Given the description of an element on the screen output the (x, y) to click on. 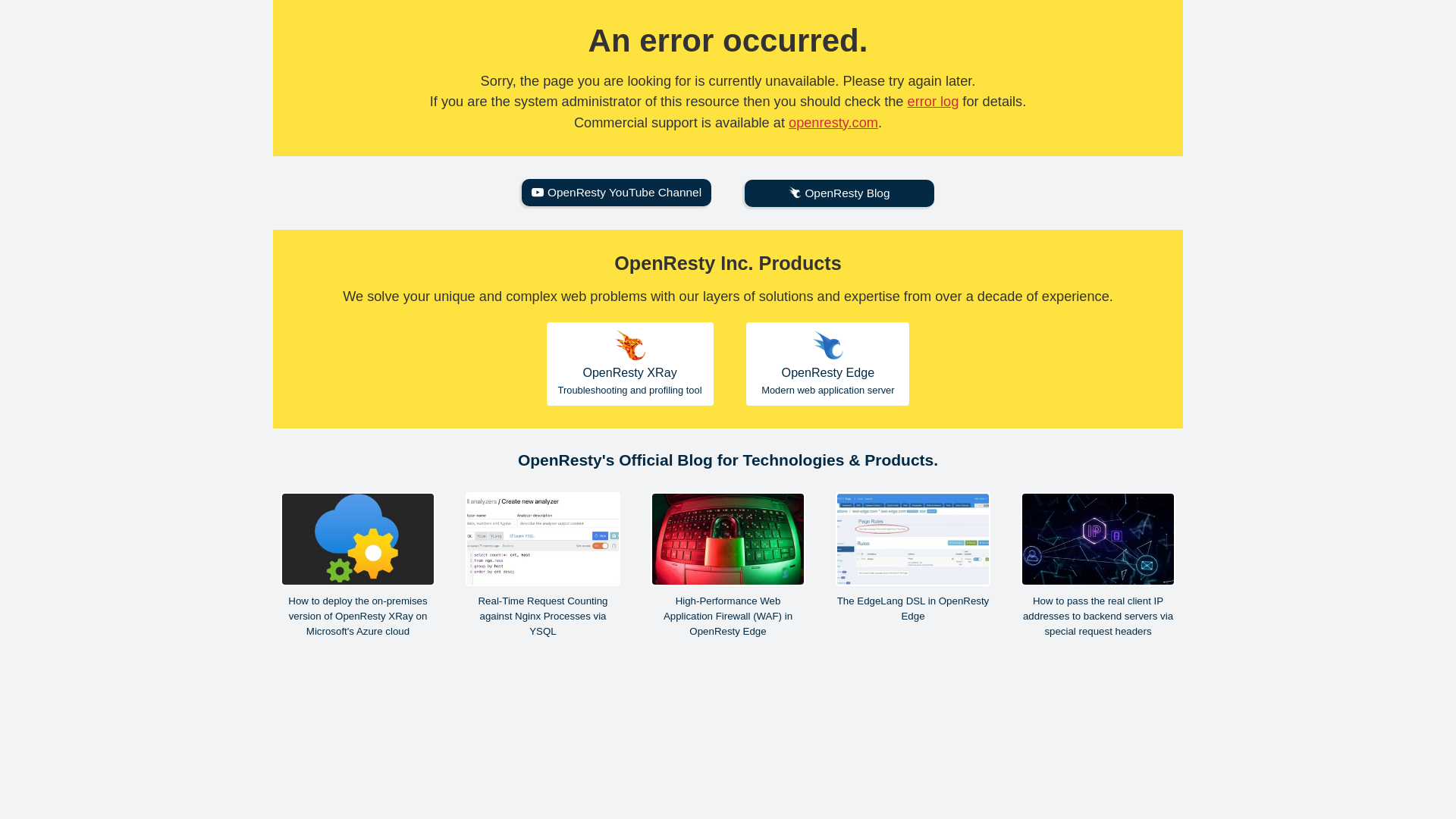
openresty.com (833, 122)
OpenResty YouTube Channel (616, 192)
error log (933, 101)
Real-Time Request Counting against Nginx Processes via YSQL (542, 565)
OpenResty Blog (839, 193)
The EdgeLang DSL in OpenResty Edge (912, 558)
